Given the description of an element on the screen output the (x, y) to click on. 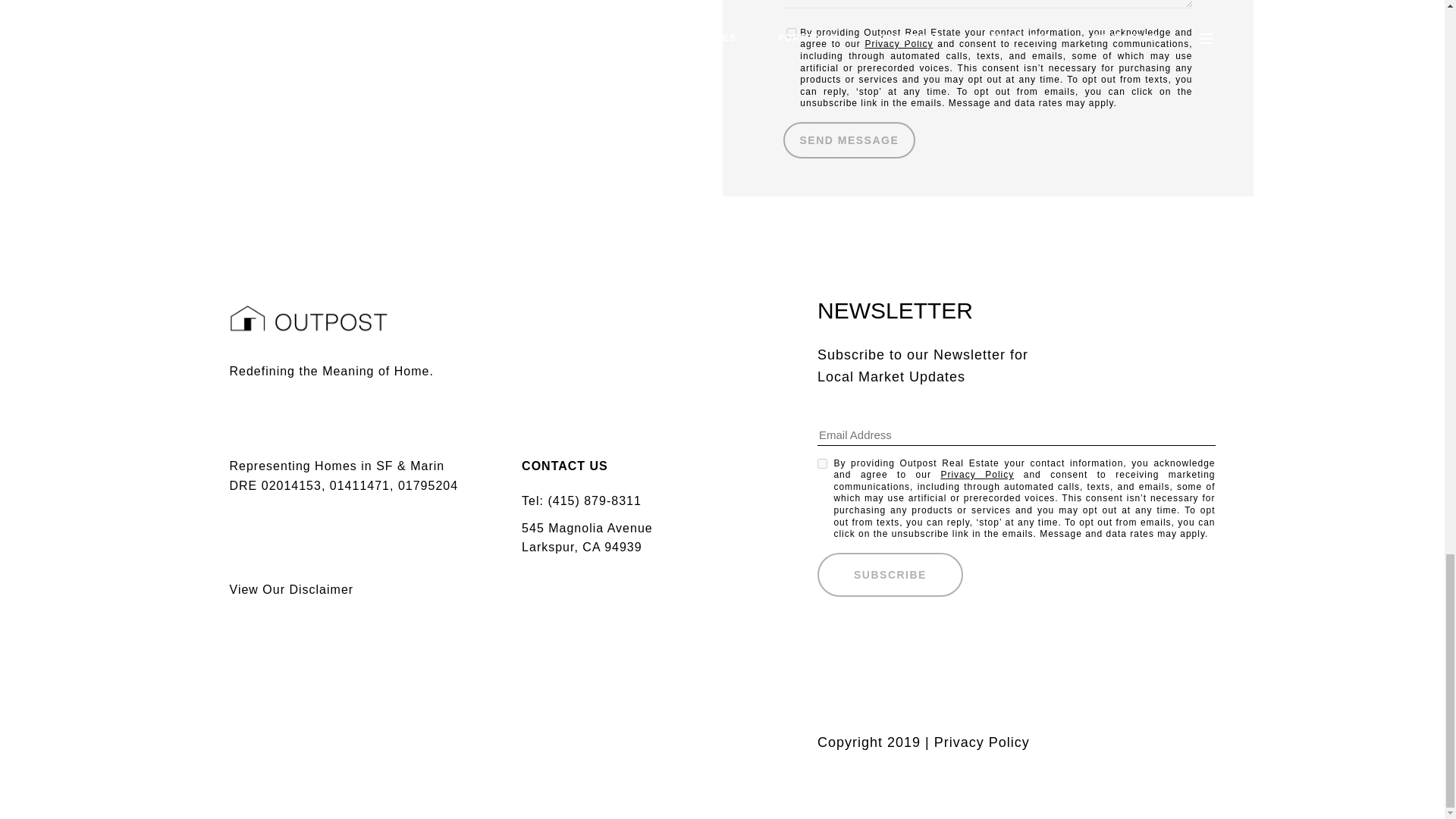
on (821, 463)
SEND MESSAGE (849, 140)
on (791, 32)
SUBSCRIBE (889, 574)
